Given the description of an element on the screen output the (x, y) to click on. 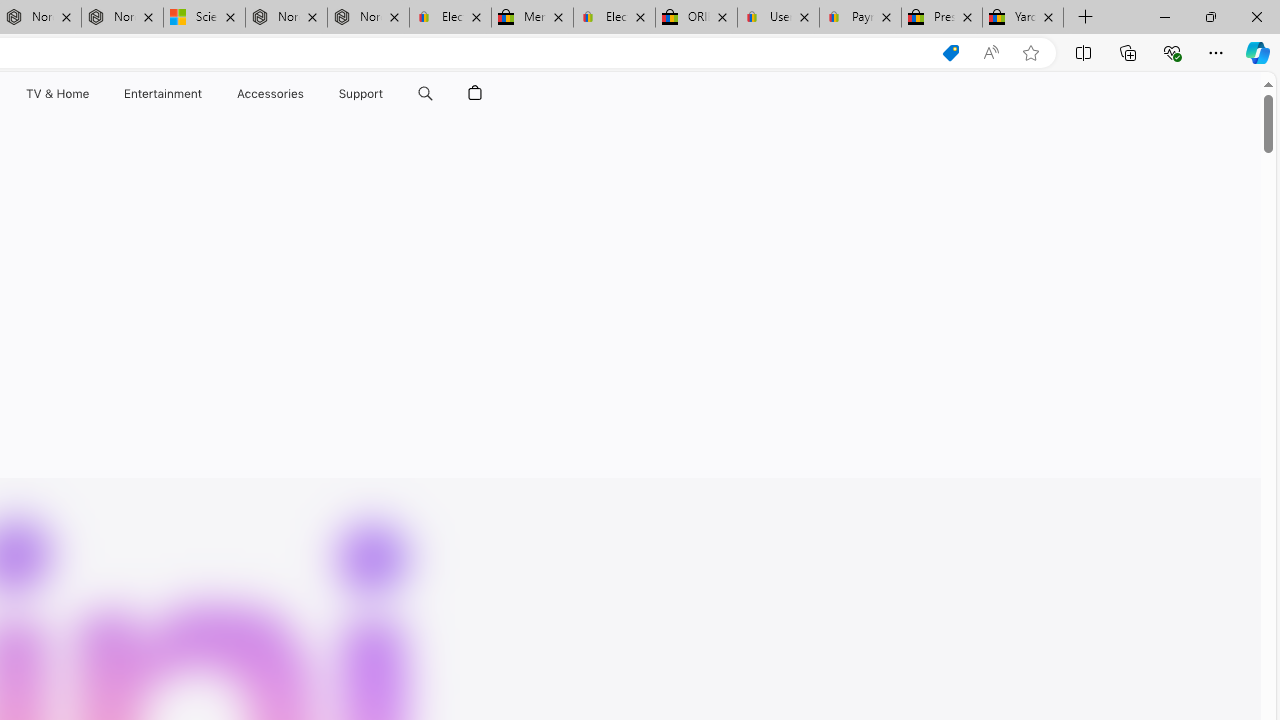
Overview (299, 141)
Overview (299, 141)
TV & Home (56, 93)
Nordace - FAQ (368, 17)
Support menu (387, 93)
Search apple.com (425, 93)
Support (361, 93)
Support (361, 93)
Tech Specs (381, 141)
Accessories (269, 93)
